Given the description of an element on the screen output the (x, y) to click on. 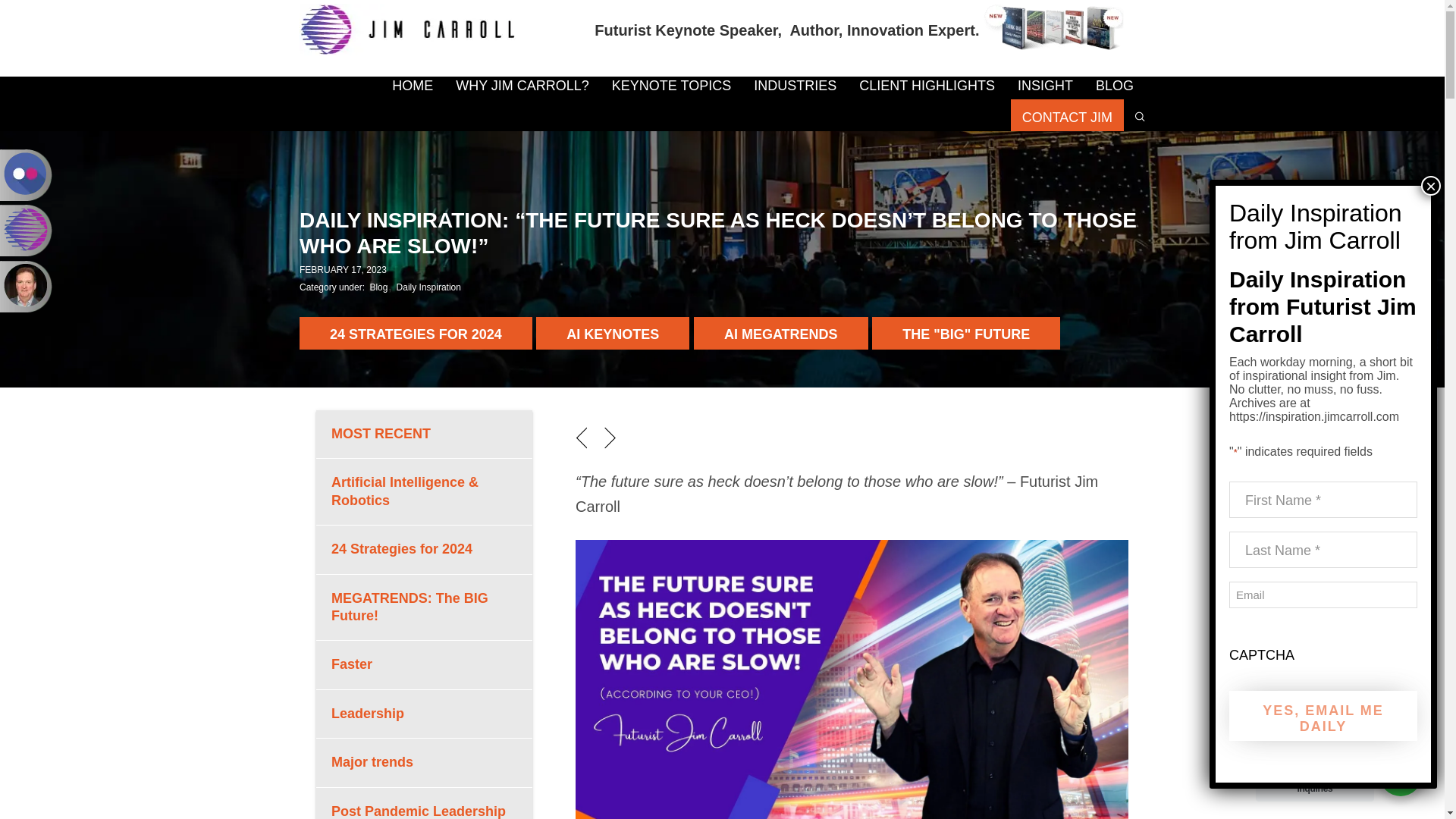
INDUSTRIES (794, 87)
HOME (412, 87)
YES, EMAIL ME DAILY (1322, 716)
WHY JIM CARROLL? (521, 87)
KEYNOTE TOPICS (670, 87)
